Given the description of an element on the screen output the (x, y) to click on. 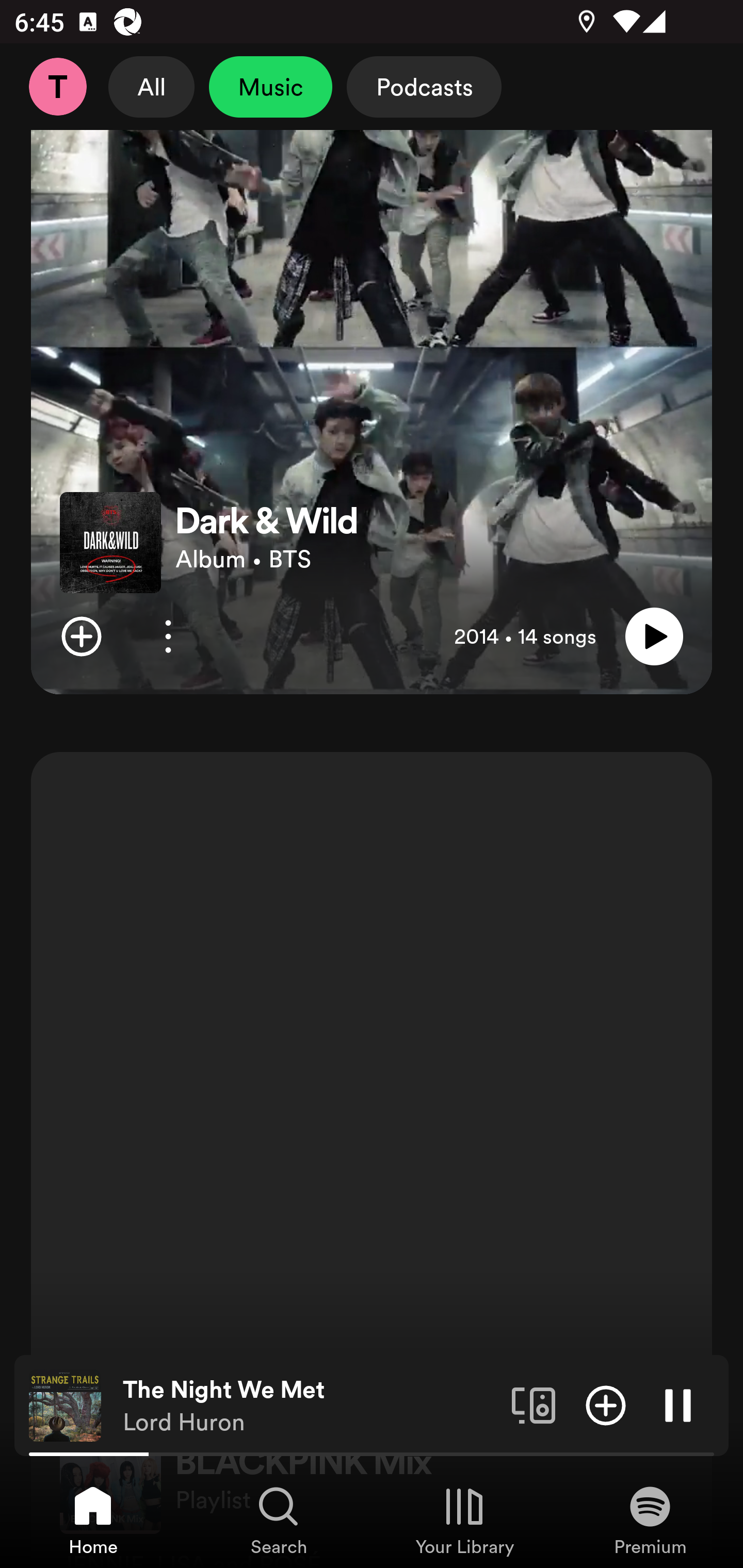
Profile (57, 86)
All Select All (151, 86)
Music Unselect Music (270, 86)
Podcasts Select Podcasts (423, 86)
Add item (80, 636)
Play (653, 636)
The Night We Met Lord Huron (309, 1405)
The cover art of the currently playing track (64, 1404)
Connect to a device. Opens the devices menu (533, 1404)
Add item (605, 1404)
Pause (677, 1404)
Home, Tab 1 of 4 Home Home (92, 1519)
Search, Tab 2 of 4 Search Search (278, 1519)
Your Library, Tab 3 of 4 Your Library Your Library (464, 1519)
Premium, Tab 4 of 4 Premium Premium (650, 1519)
